Given the description of an element on the screen output the (x, y) to click on. 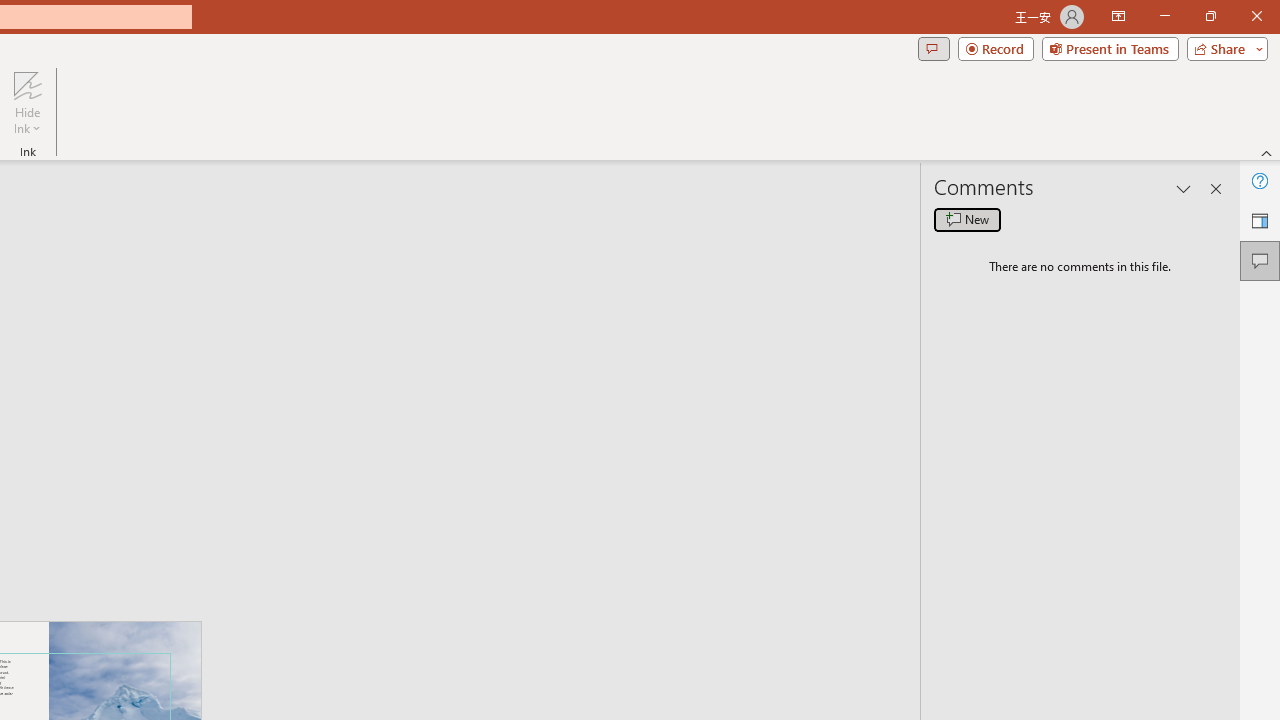
New comment (967, 219)
Feedback to Microsoft (1260, 220)
